Given the description of an element on the screen output the (x, y) to click on. 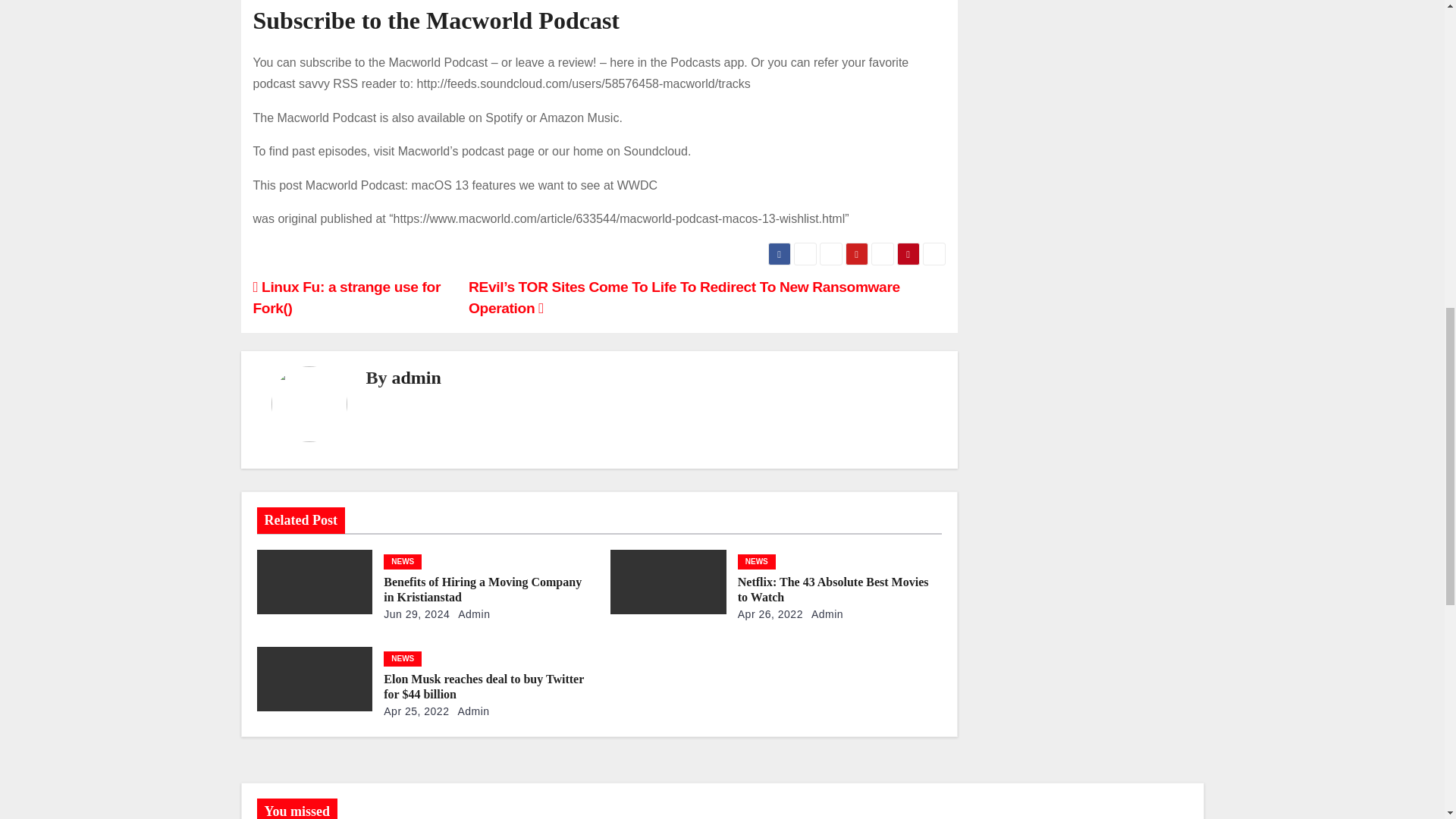
NEWS (757, 561)
admin (416, 377)
NEWS (403, 561)
Jun 29, 2024 (416, 613)
Admin (471, 613)
Admin (824, 613)
Apr 25, 2022 (416, 711)
Apr 26, 2022 (770, 613)
Netflix: The 43 Absolute Best Movies to Watch (833, 589)
Permalink to: Netflix: The 43 Absolute Best Movies to Watch (833, 589)
